Given the description of an element on the screen output the (x, y) to click on. 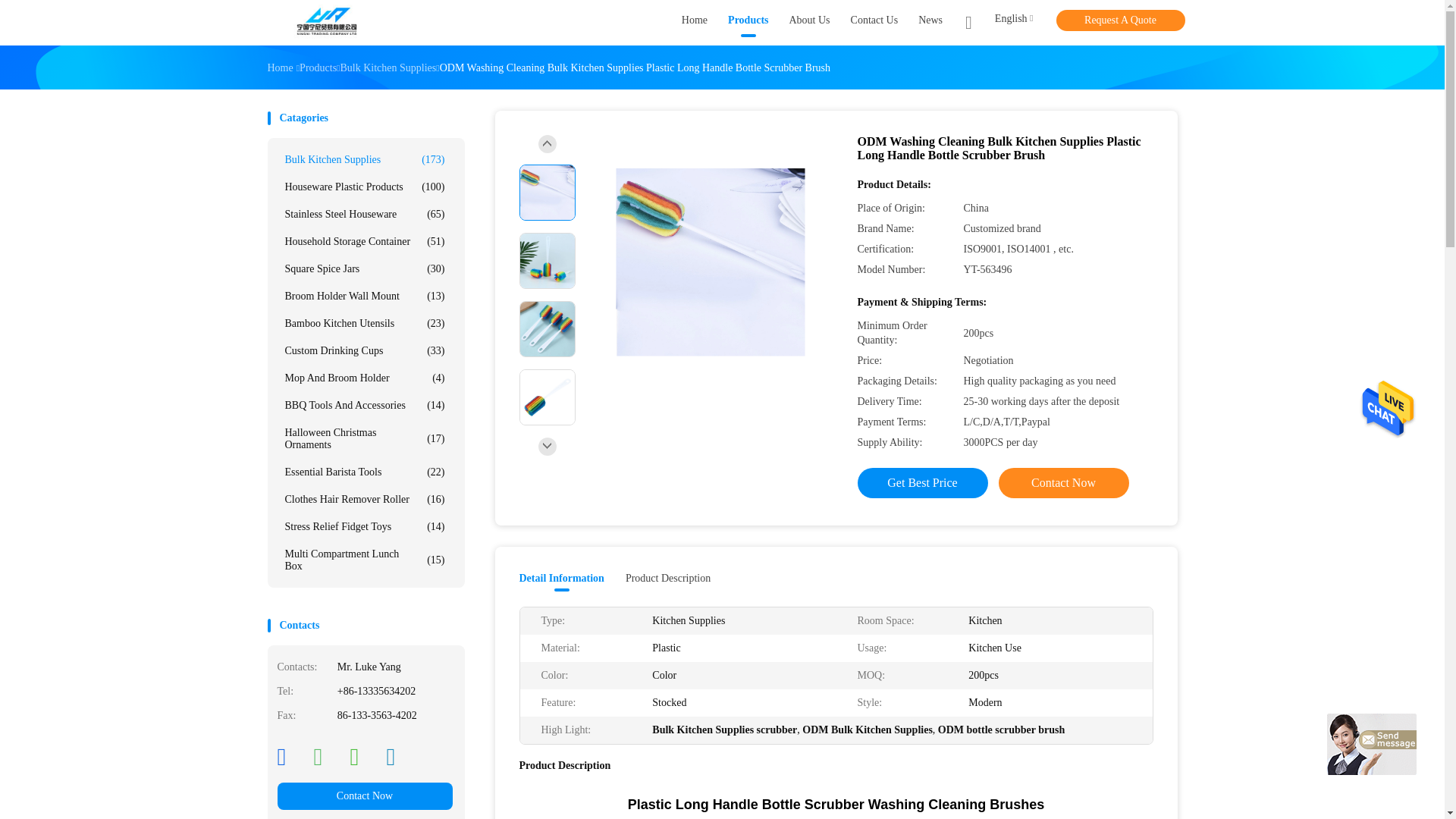
Contact Us (874, 22)
Request A Quote (1120, 20)
Products (748, 22)
Home (694, 22)
Products (317, 67)
Ningguo Ningni Trading Co., Ltd. (326, 22)
About Us (809, 22)
News (930, 22)
Home (279, 67)
